Given the description of an element on the screen output the (x, y) to click on. 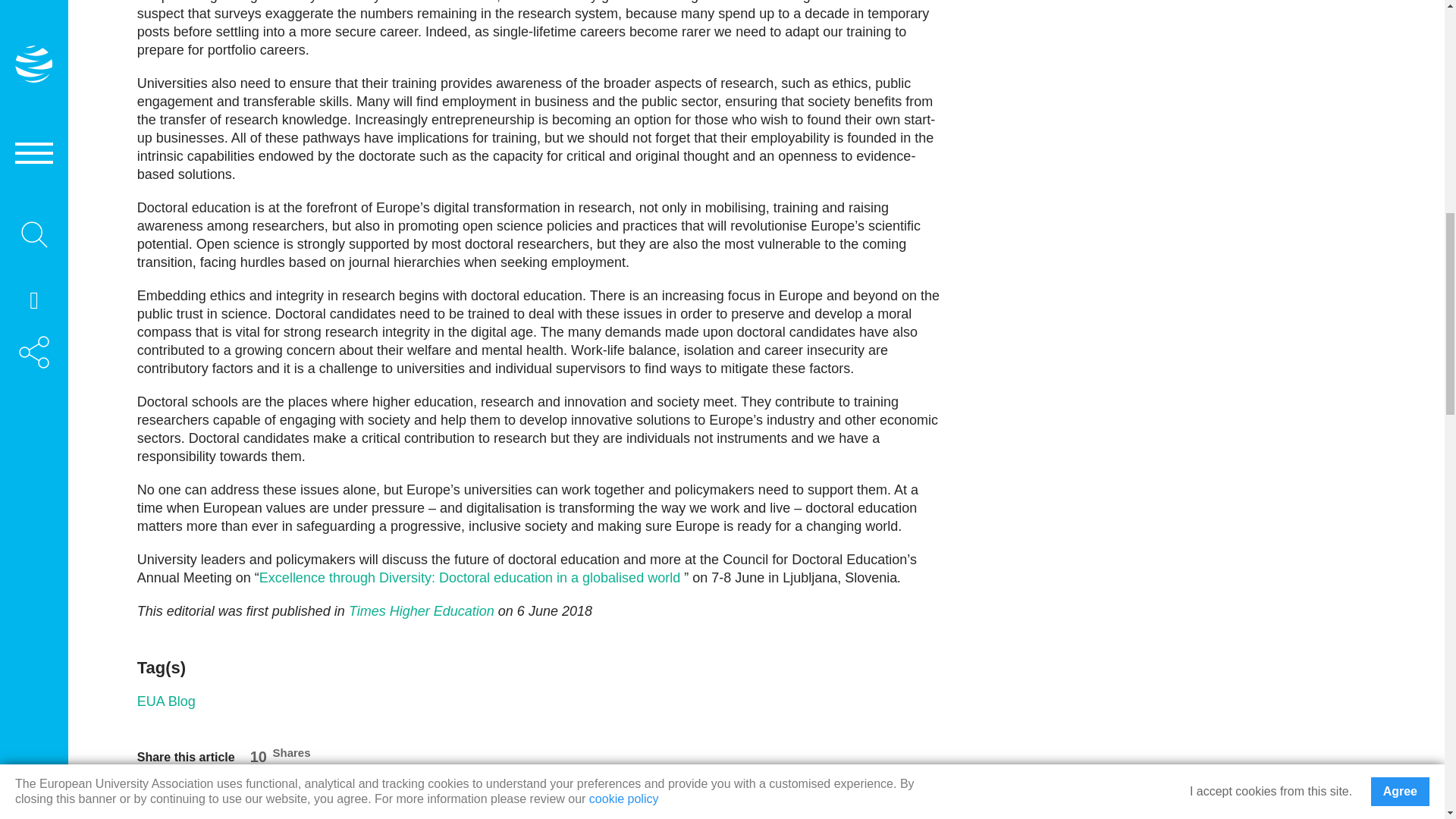
EUA Blog (165, 701)
Times Higher Education (422, 611)
